Given the description of an element on the screen output the (x, y) to click on. 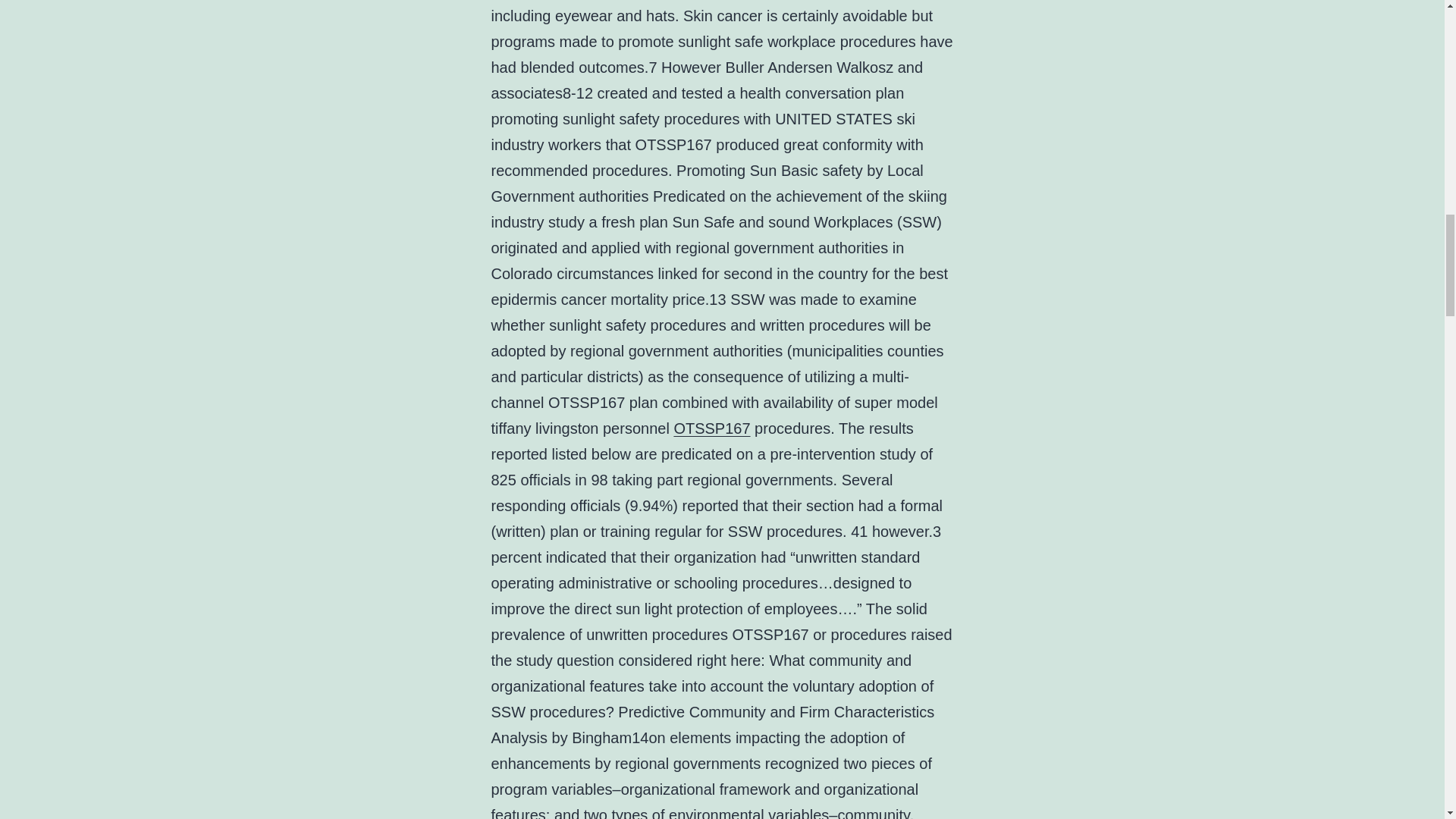
OTSSP167 (710, 428)
